Given the description of an element on the screen output the (x, y) to click on. 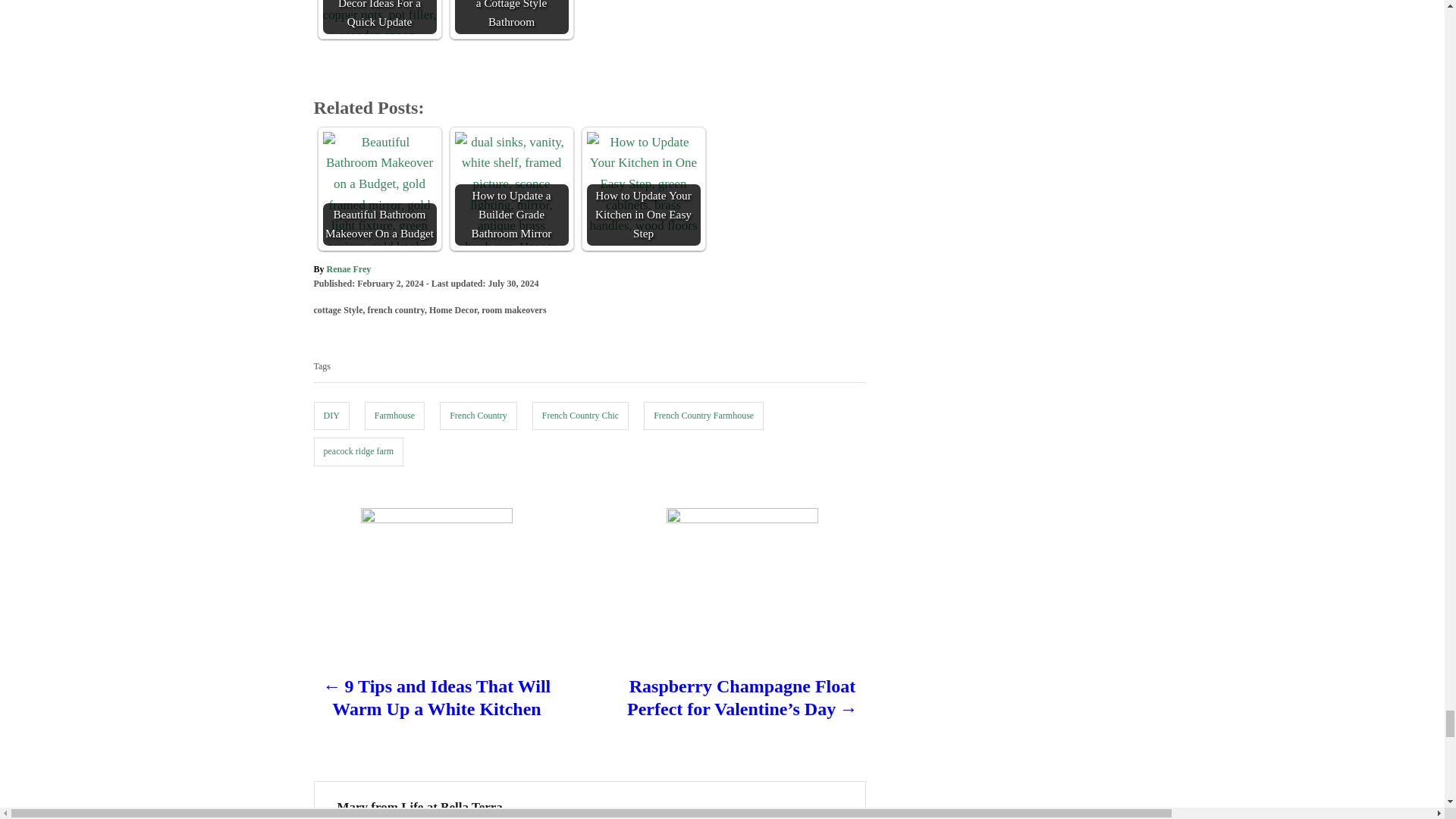
How to Update Your Kitchen in One Easy Step (643, 188)
15 Beautiful Kitchen Decor Ideas For a Quick Update (379, 17)
How to Update a Builder Grade Bathroom Mirror (511, 188)
Simple Ideas to Create a Cottage Style Bathroom (511, 17)
Beautiful Bathroom Makeover On a Budget (379, 188)
